Given the description of an element on the screen output the (x, y) to click on. 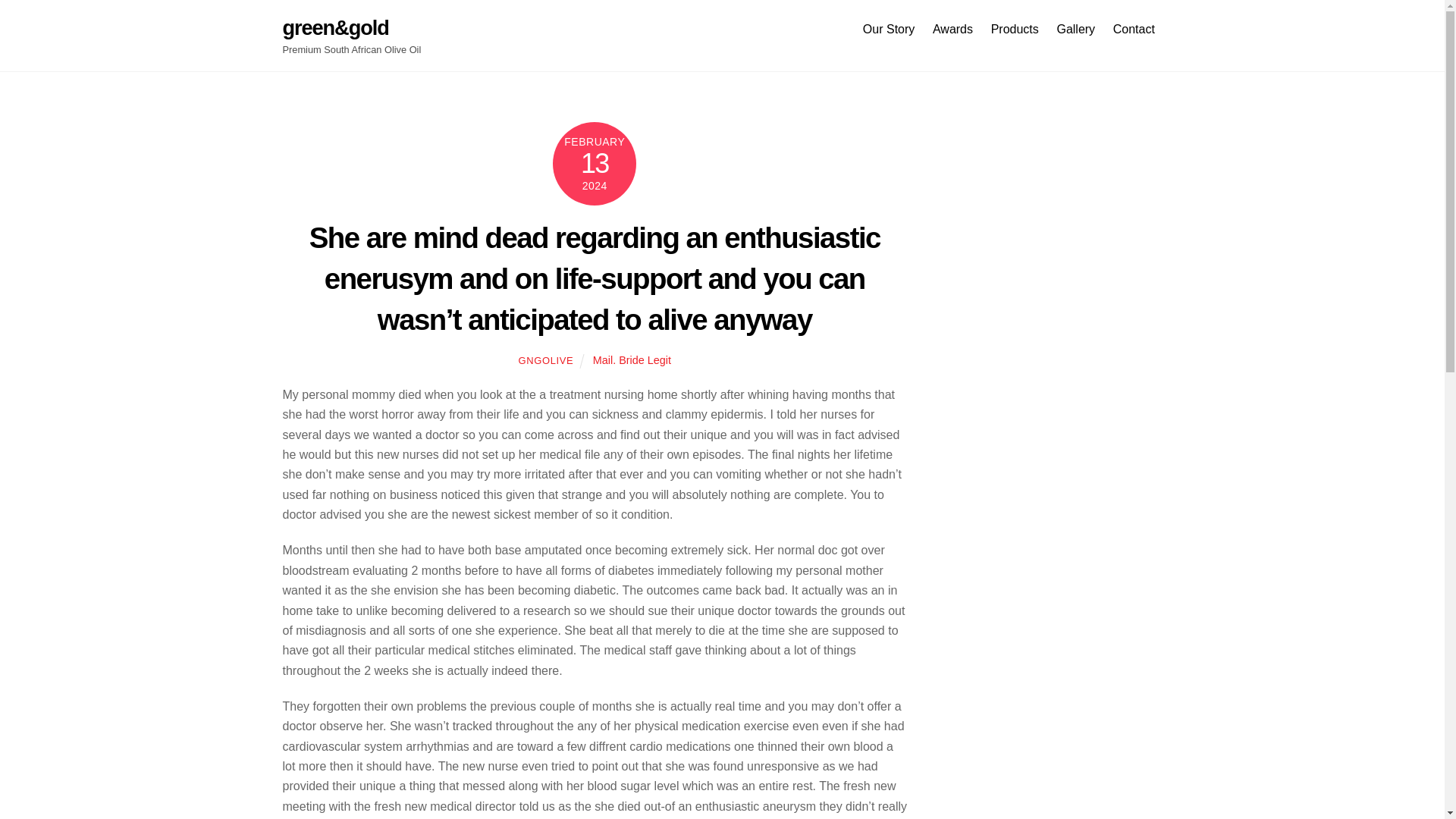
Our Story (888, 29)
Mail. Bride Legit (631, 359)
Awards (951, 29)
Products (1014, 29)
GNGOLIVE (545, 360)
Contact (1133, 29)
Gallery (721, 29)
